Given the description of an element on the screen output the (x, y) to click on. 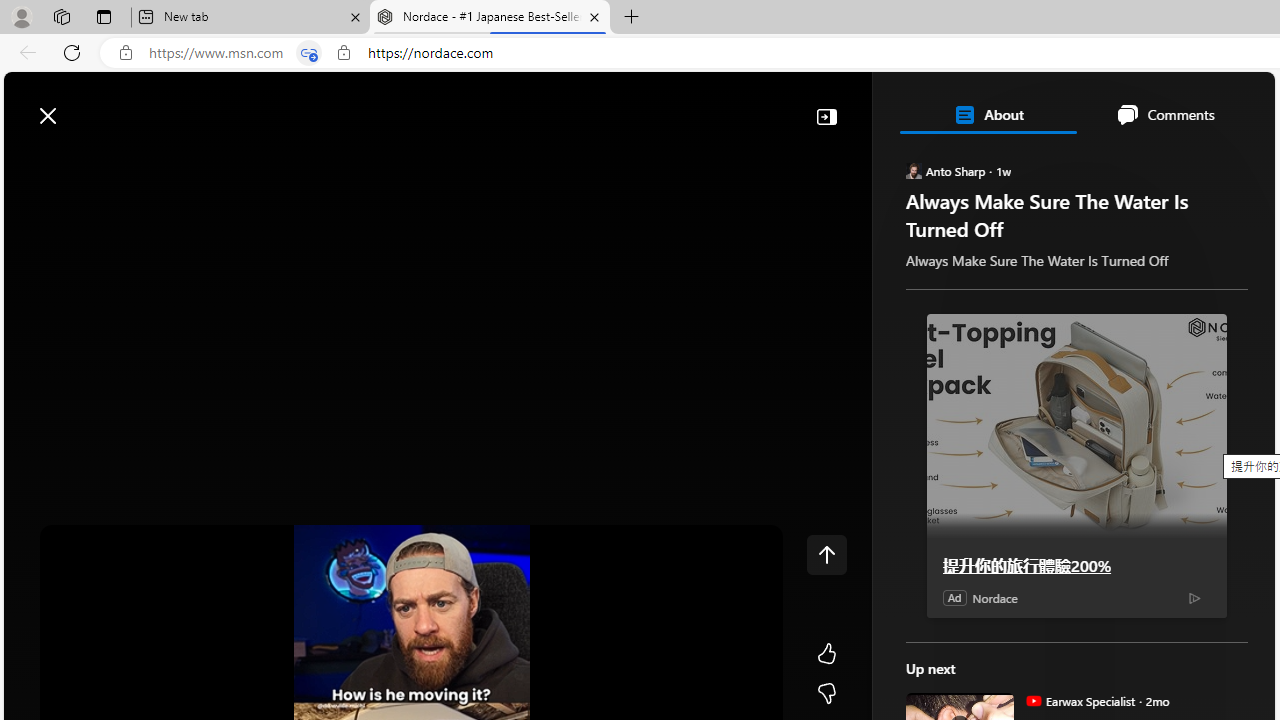
Microsoft rewards (1151, 105)
Notifications (1190, 105)
Watch (257, 162)
ABC News (974, 557)
Skip to content (86, 105)
Skip to footer (82, 105)
